Given the description of an element on the screen output the (x, y) to click on. 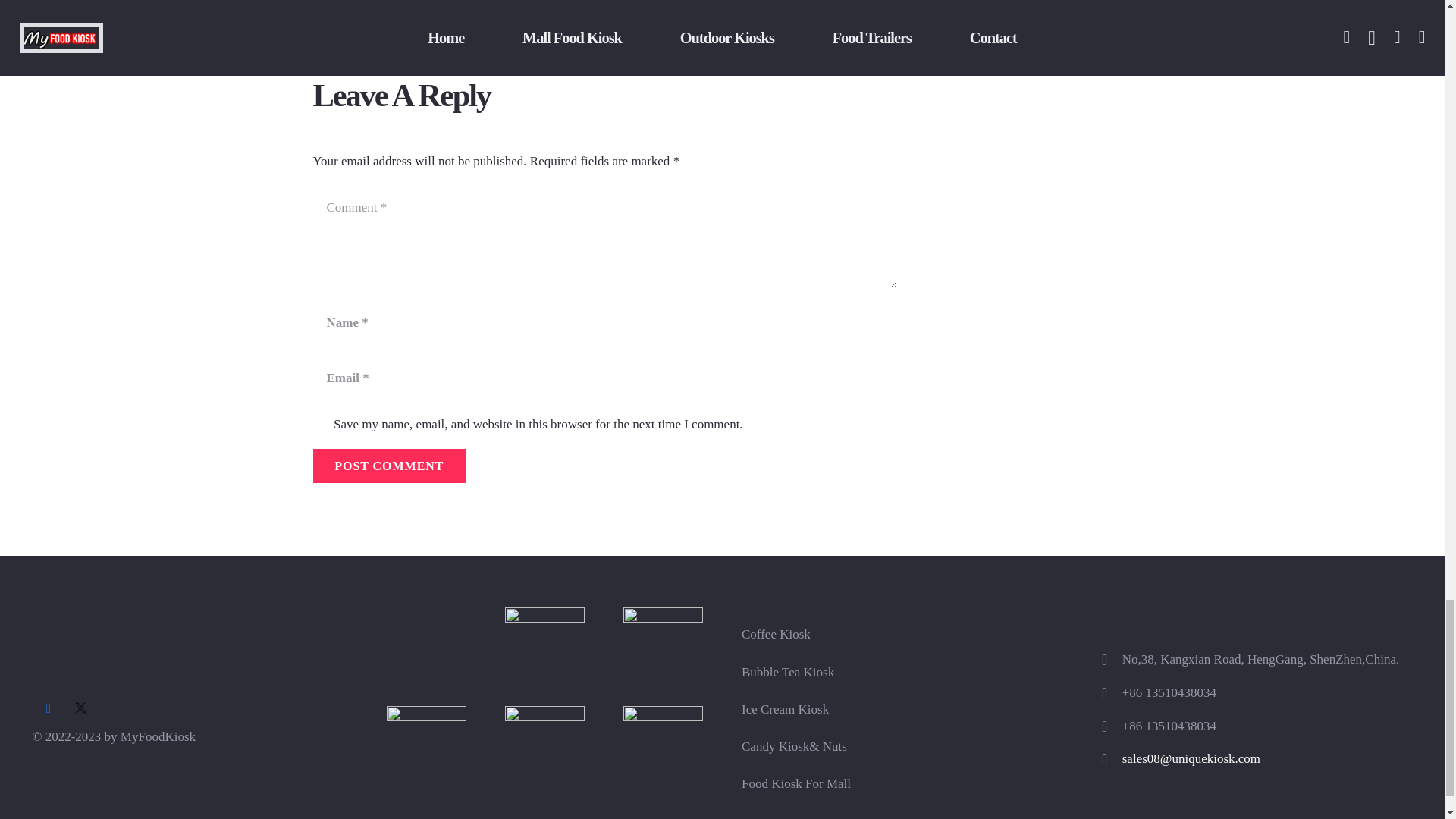
Facebook (48, 708)
Twitter (80, 708)
1 (321, 424)
